Given the description of an element on the screen output the (x, y) to click on. 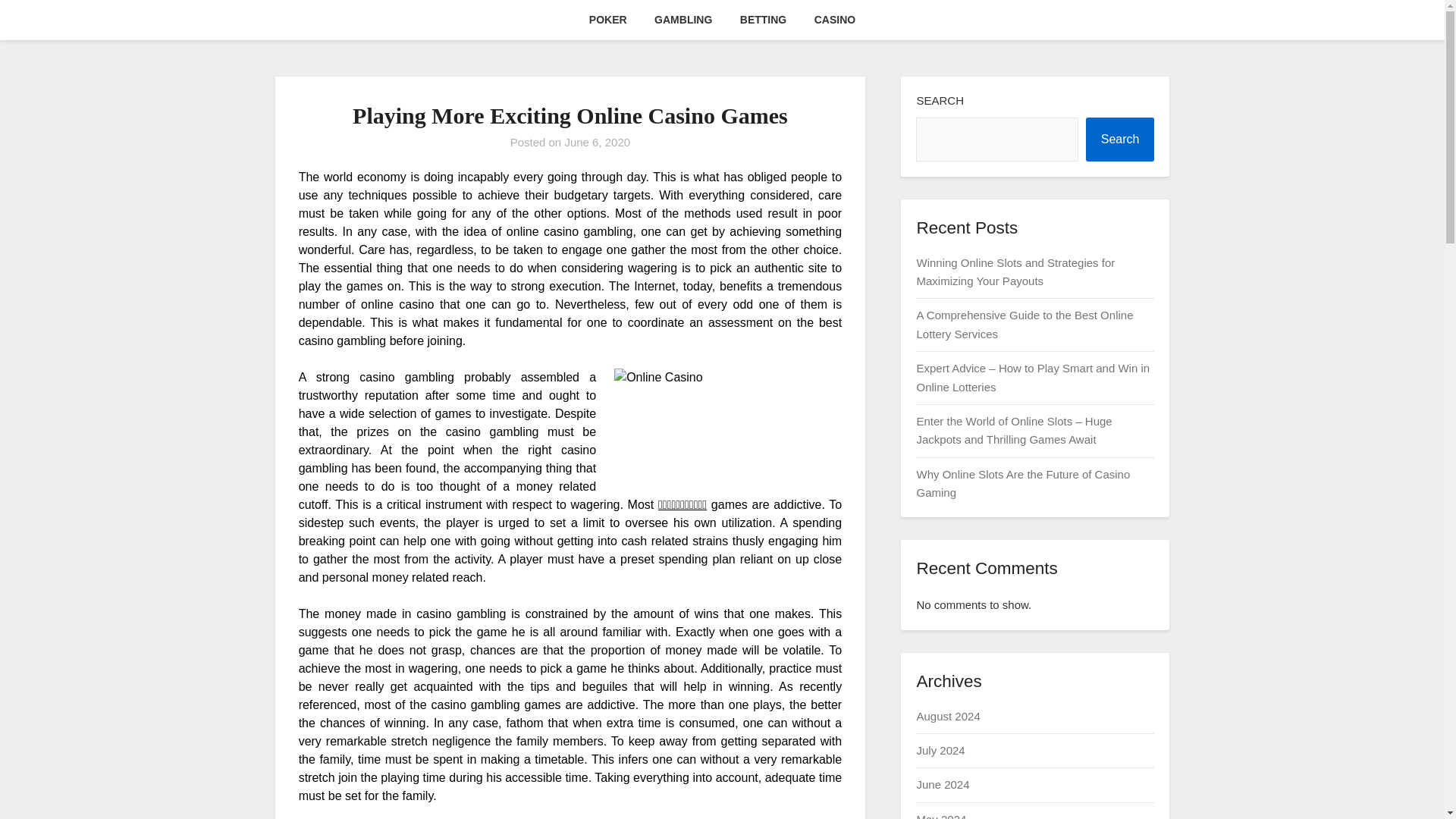
August 2024 (947, 716)
BETTING (762, 20)
GAMBLING (682, 20)
CASINO (834, 20)
June 6, 2020 (597, 141)
July 2024 (939, 749)
May 2024 (940, 816)
A Comprehensive Guide to the Best Online Lottery Services (1023, 323)
POKER (607, 20)
Search (1120, 139)
